Given the description of an element on the screen output the (x, y) to click on. 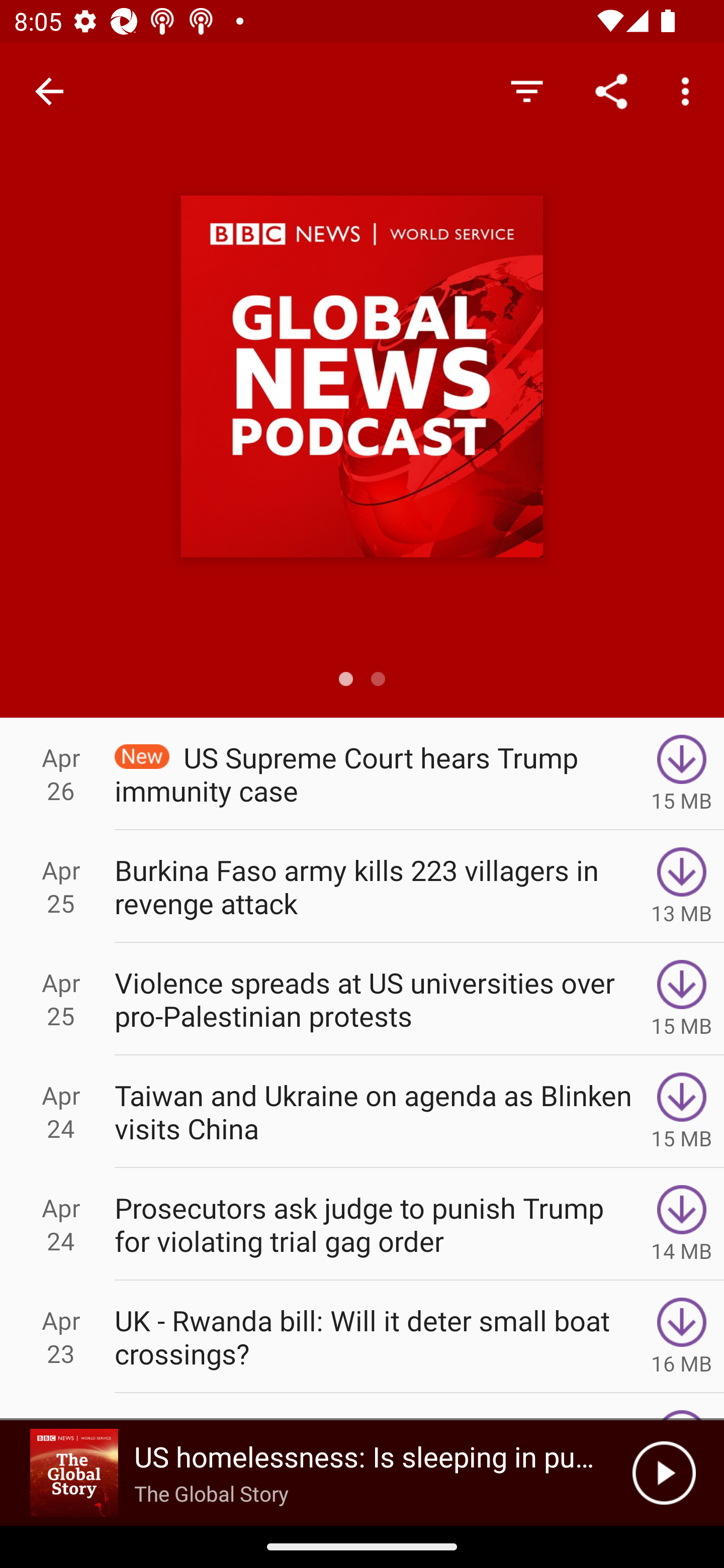
Navigate up (49, 91)
Hide Episodes (526, 90)
Share Link (611, 90)
More options (688, 90)
Download 15 MB (681, 773)
Download 13 MB (681, 885)
Download 15 MB (681, 998)
Download 15 MB (681, 1111)
Download 14 MB (681, 1224)
Download 16 MB (681, 1336)
Play (663, 1472)
